Given the description of an element on the screen output the (x, y) to click on. 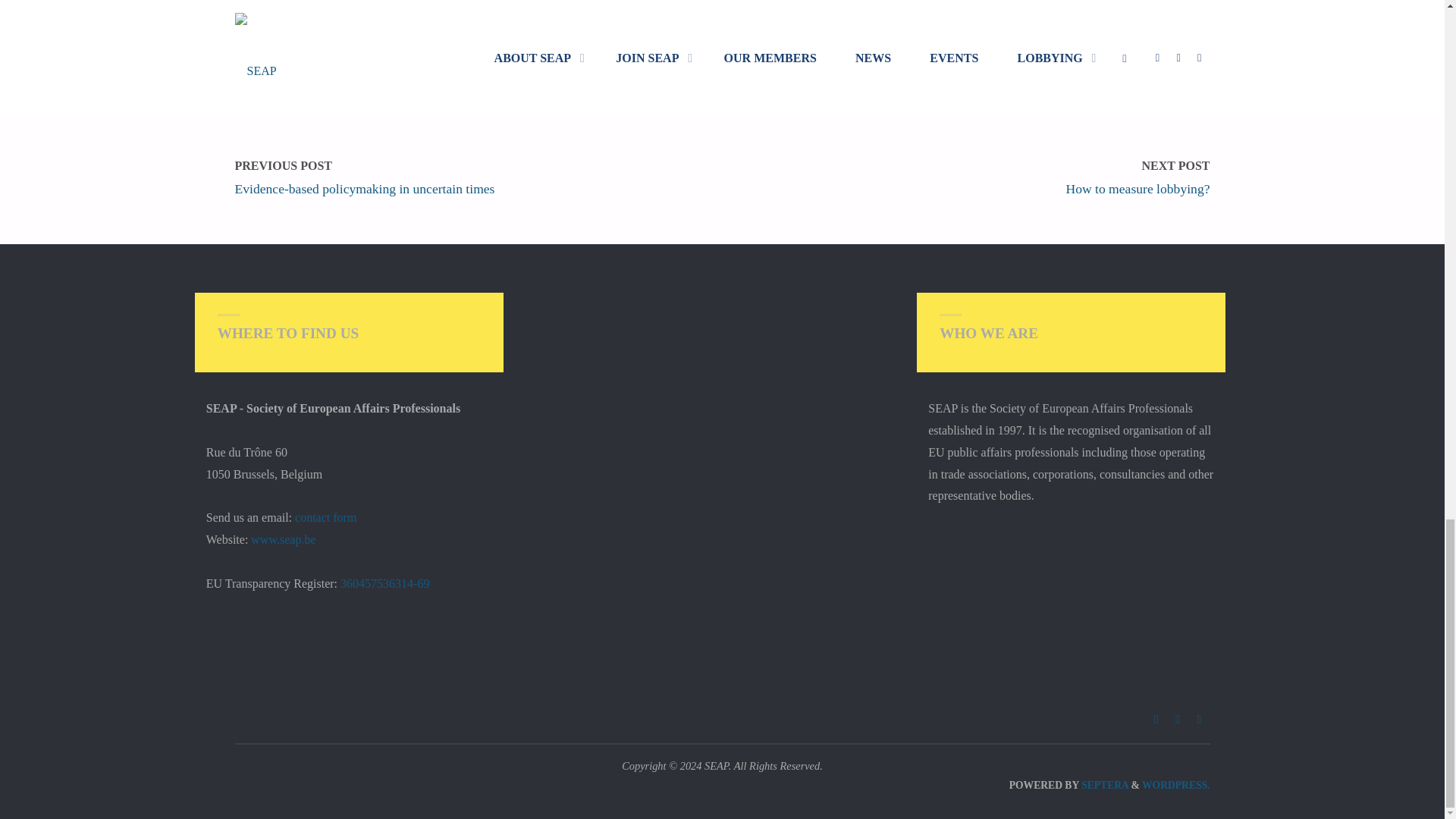
Semantic Personal Publishing Platform (1175, 785)
Septera WordPress Theme by Cryout Creations (1103, 785)
